Given the description of an element on the screen output the (x, y) to click on. 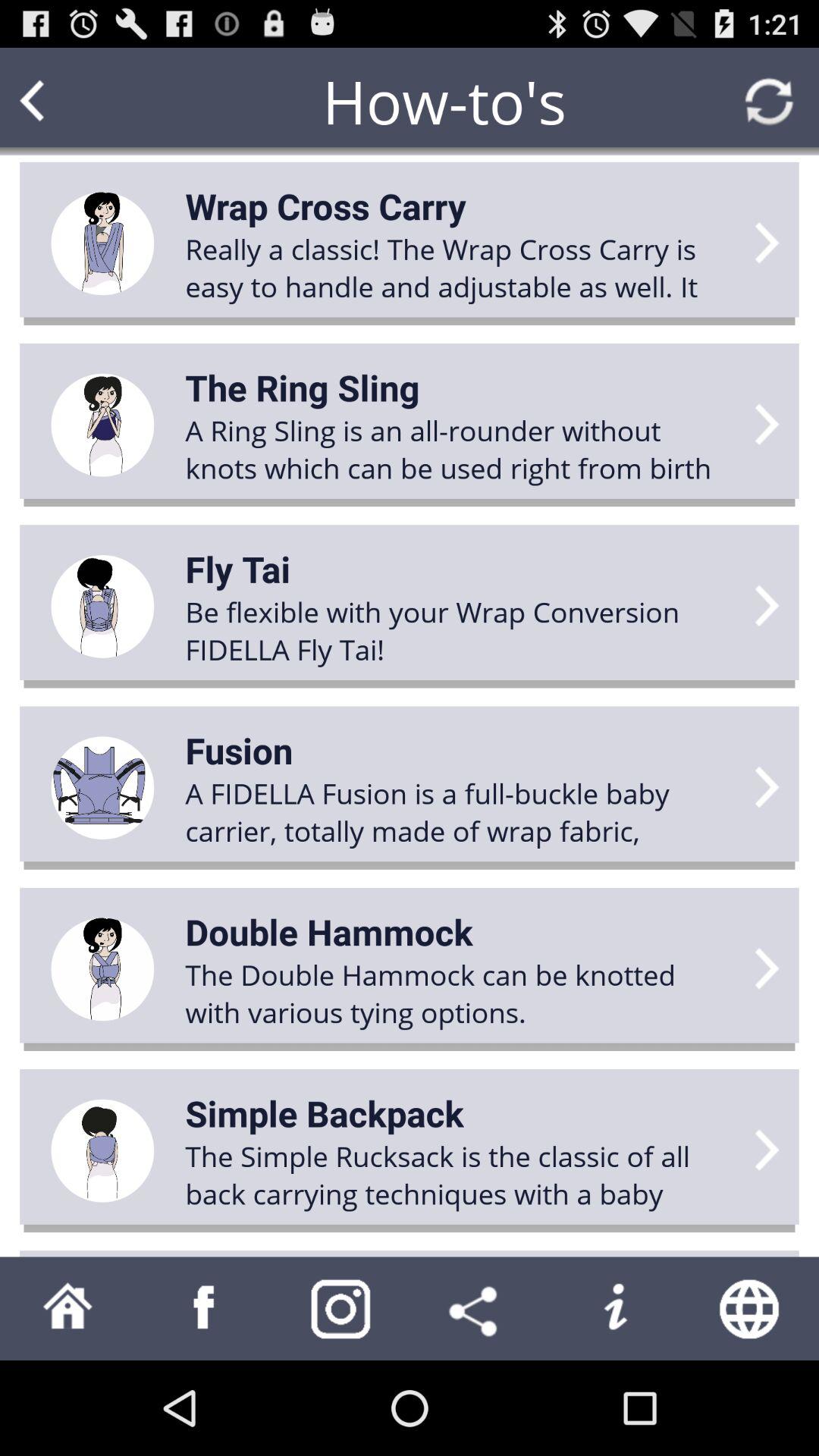
view information (614, 1308)
